Given the description of an element on the screen output the (x, y) to click on. 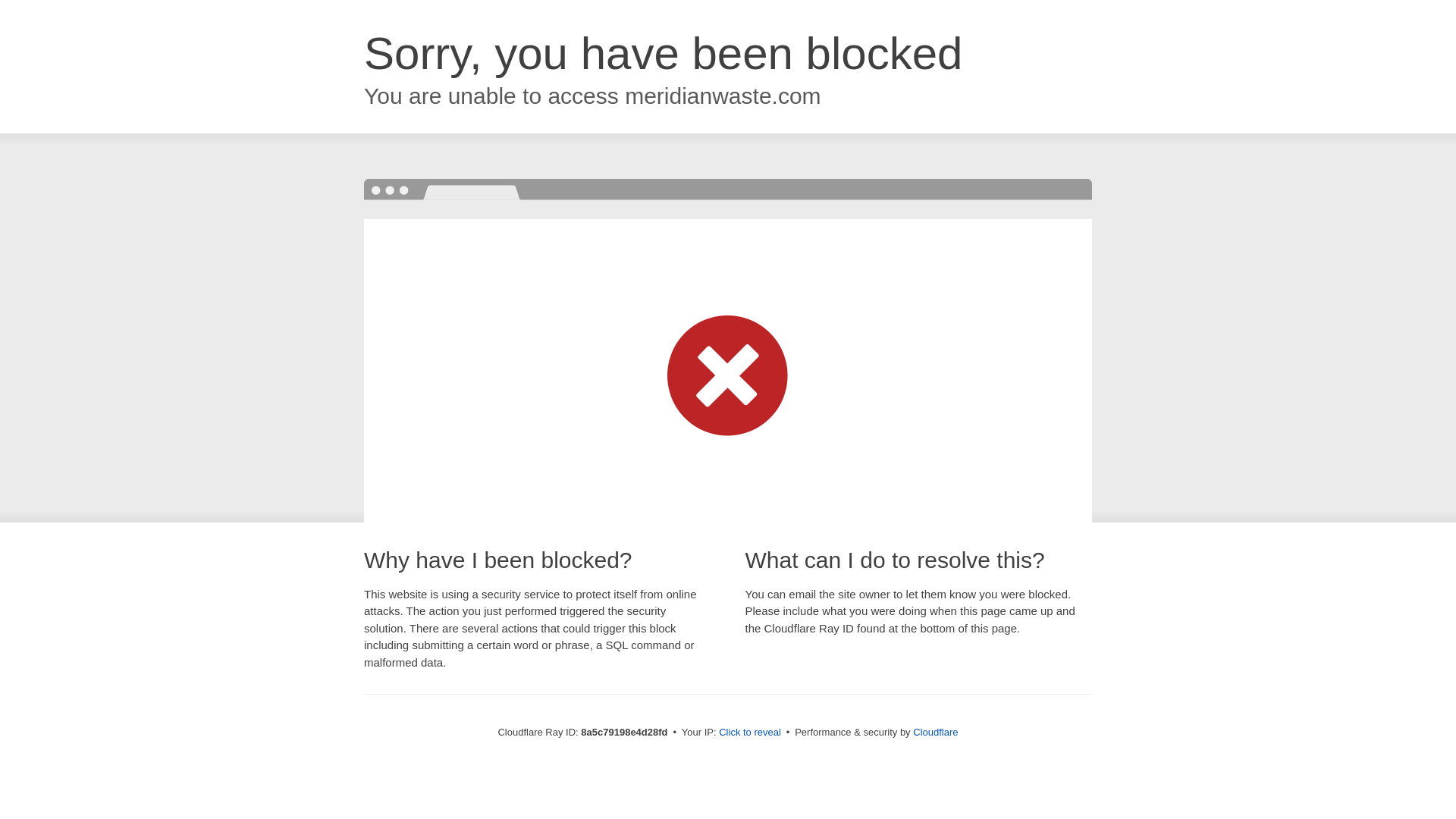
Click to reveal (749, 732)
Cloudflare (935, 731)
